Given the description of an element on the screen output the (x, y) to click on. 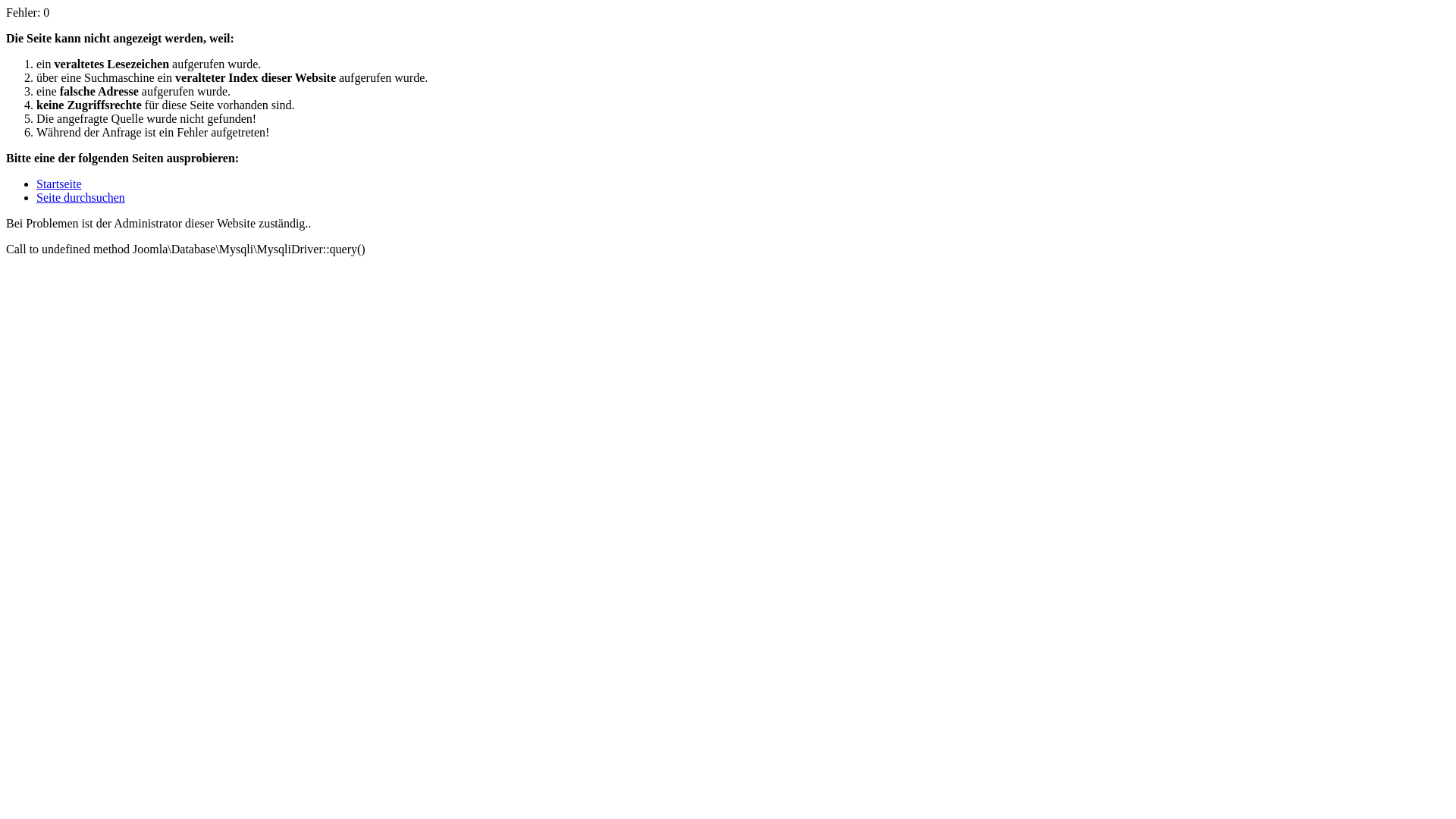
Seite durchsuchen Element type: text (80, 197)
Startseite Element type: text (58, 183)
